Given the description of an element on the screen output the (x, y) to click on. 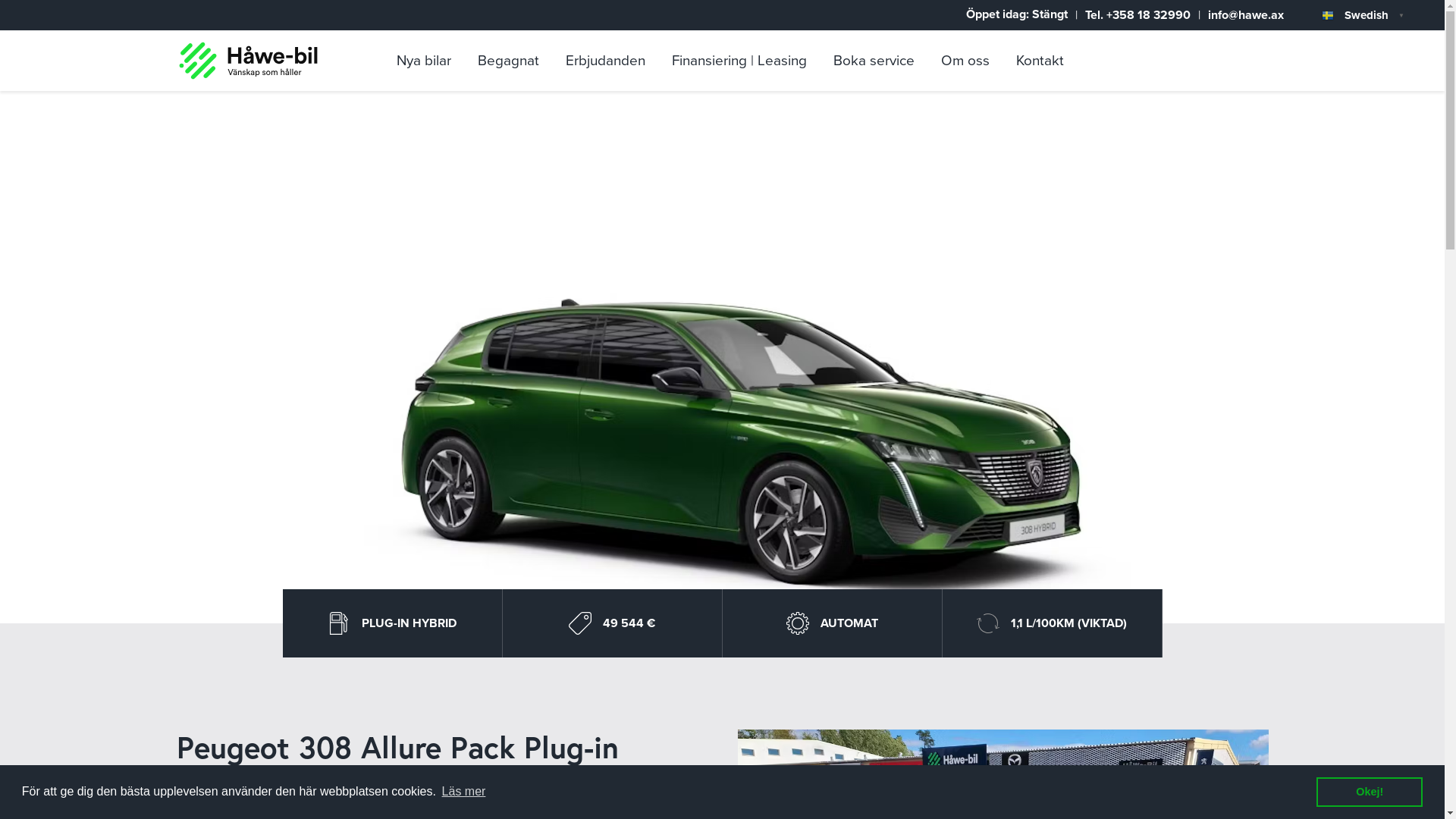
Finansiering | Leasing Element type: text (742, 60)
Okej! Element type: text (1369, 791)
info@hawe.ax Element type: text (1245, 14)
Boka service Element type: text (876, 60)
Begagnat Element type: text (511, 60)
Kontakt Element type: text (1043, 60)
Nya bilar Element type: text (426, 60)
Tel. +358 18 32990 Element type: text (1137, 14)
Om oss Element type: text (968, 60)
Erbjudanden Element type: text (608, 60)
